Given the description of an element on the screen output the (x, y) to click on. 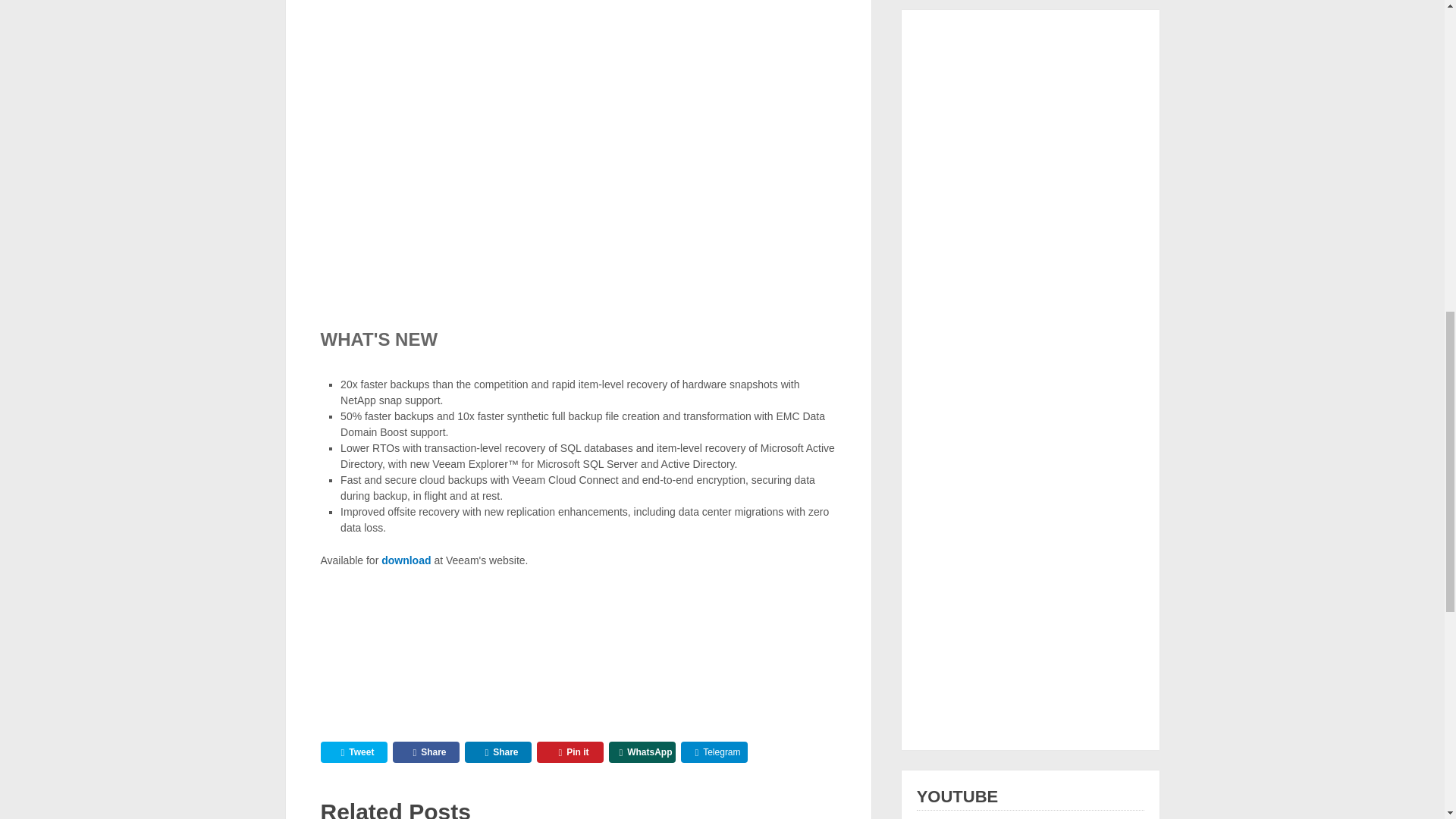
Tweet (353, 752)
download (405, 560)
Veeam Availability Suite 8 released 1 (433, 640)
veeam8released02 (578, 140)
